Given the description of an element on the screen output the (x, y) to click on. 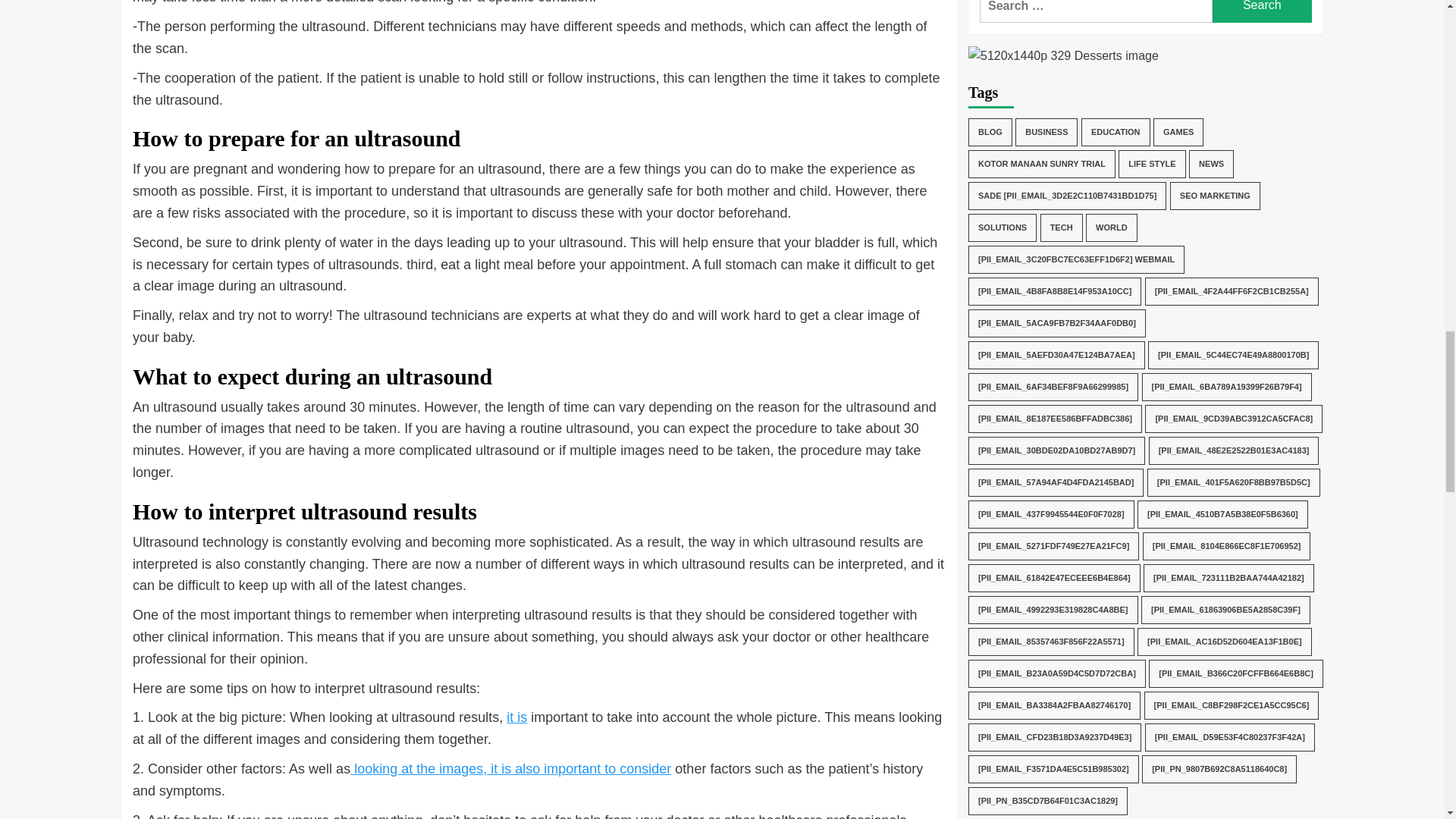
it is (516, 717)
looking at the images, it is also important to consider (510, 768)
